Given the description of an element on the screen output the (x, y) to click on. 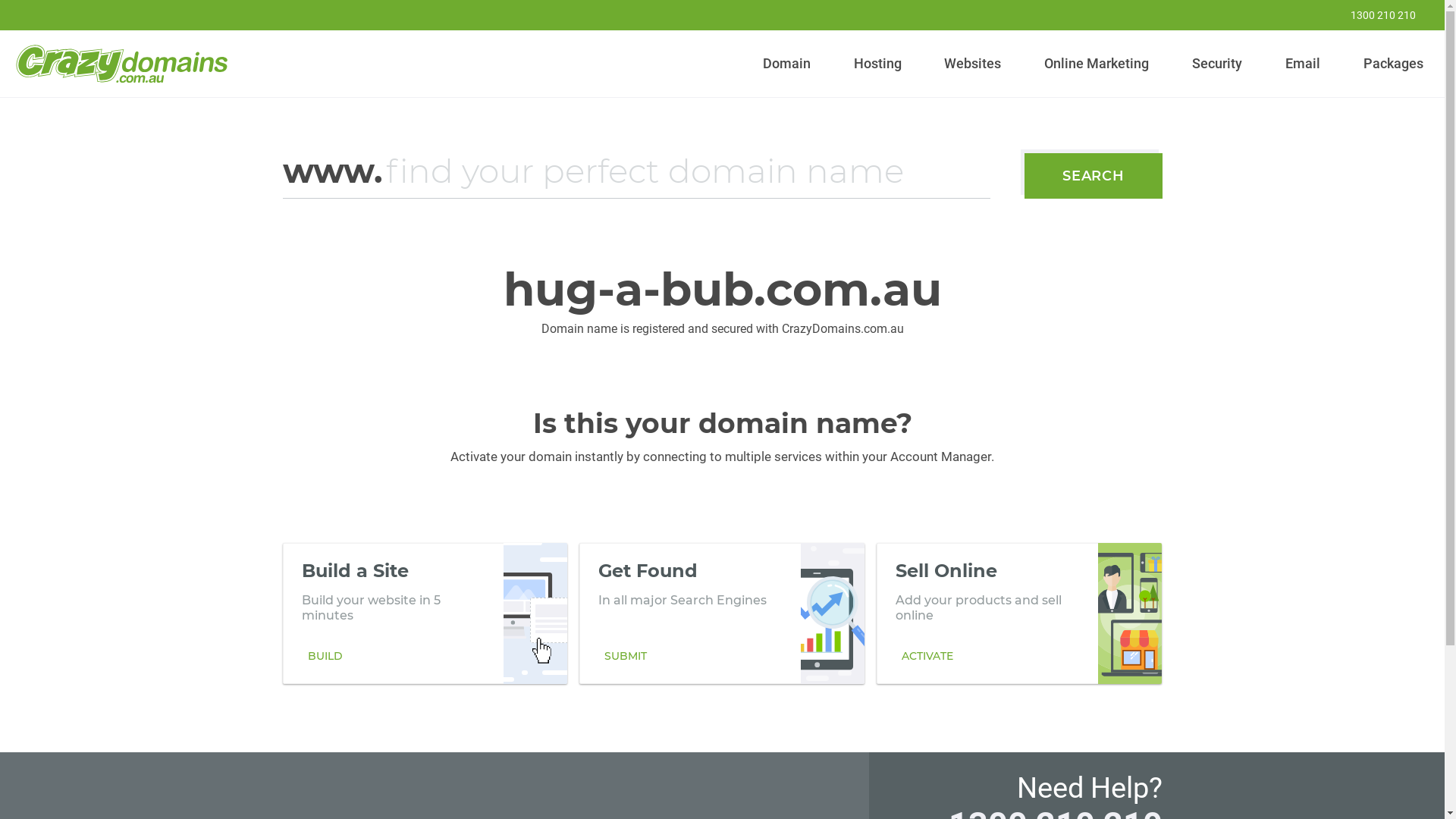
SEARCH Element type: text (1092, 175)
Build a Site
Build your website in 5 minutes
BUILD Element type: text (424, 613)
Online Marketing Element type: text (1096, 63)
Sell Online
Add your products and sell online
ACTIVATE Element type: text (1018, 613)
Security Element type: text (1217, 63)
Email Element type: text (1302, 63)
Get Found
In all major Search Engines
SUBMIT Element type: text (721, 613)
Hosting Element type: text (877, 63)
Domain Element type: text (786, 63)
Websites Element type: text (972, 63)
1300 210 210 Element type: text (1373, 15)
Packages Element type: text (1392, 63)
